Given the description of an element on the screen output the (x, y) to click on. 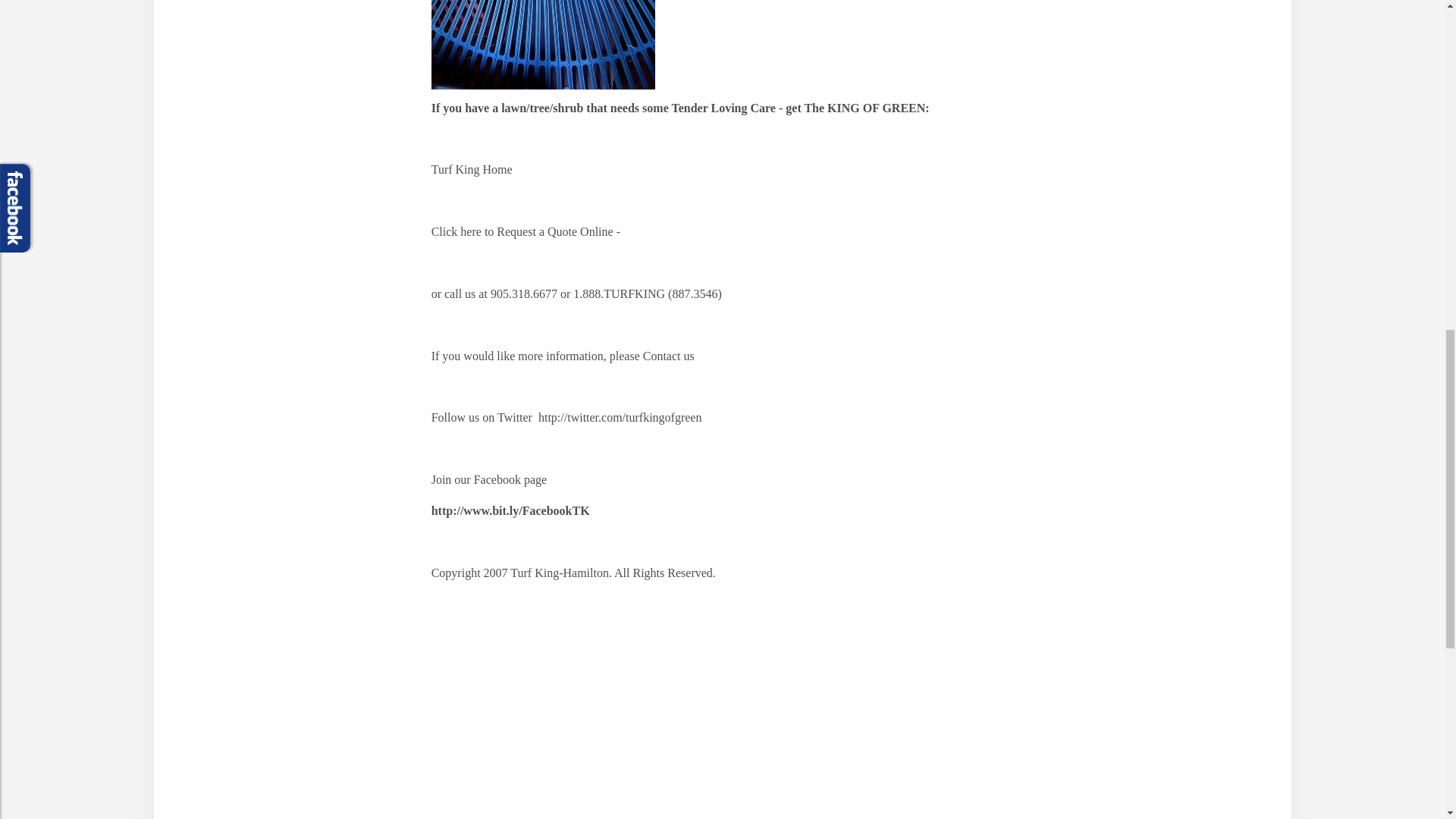
Submit to LinkedIn (705, 712)
Click here to Request a Quote Online (522, 231)
Do I need to rake my lawn in the spring? (542, 44)
Submit to Digg (499, 712)
Submit to Google Bookmarks (603, 712)
Submit to Twitter (654, 712)
Submit to Facebook (551, 712)
Contact us (668, 355)
Turf King Home (471, 169)
Submit to Delicious (448, 712)
